Given the description of an element on the screen output the (x, y) to click on. 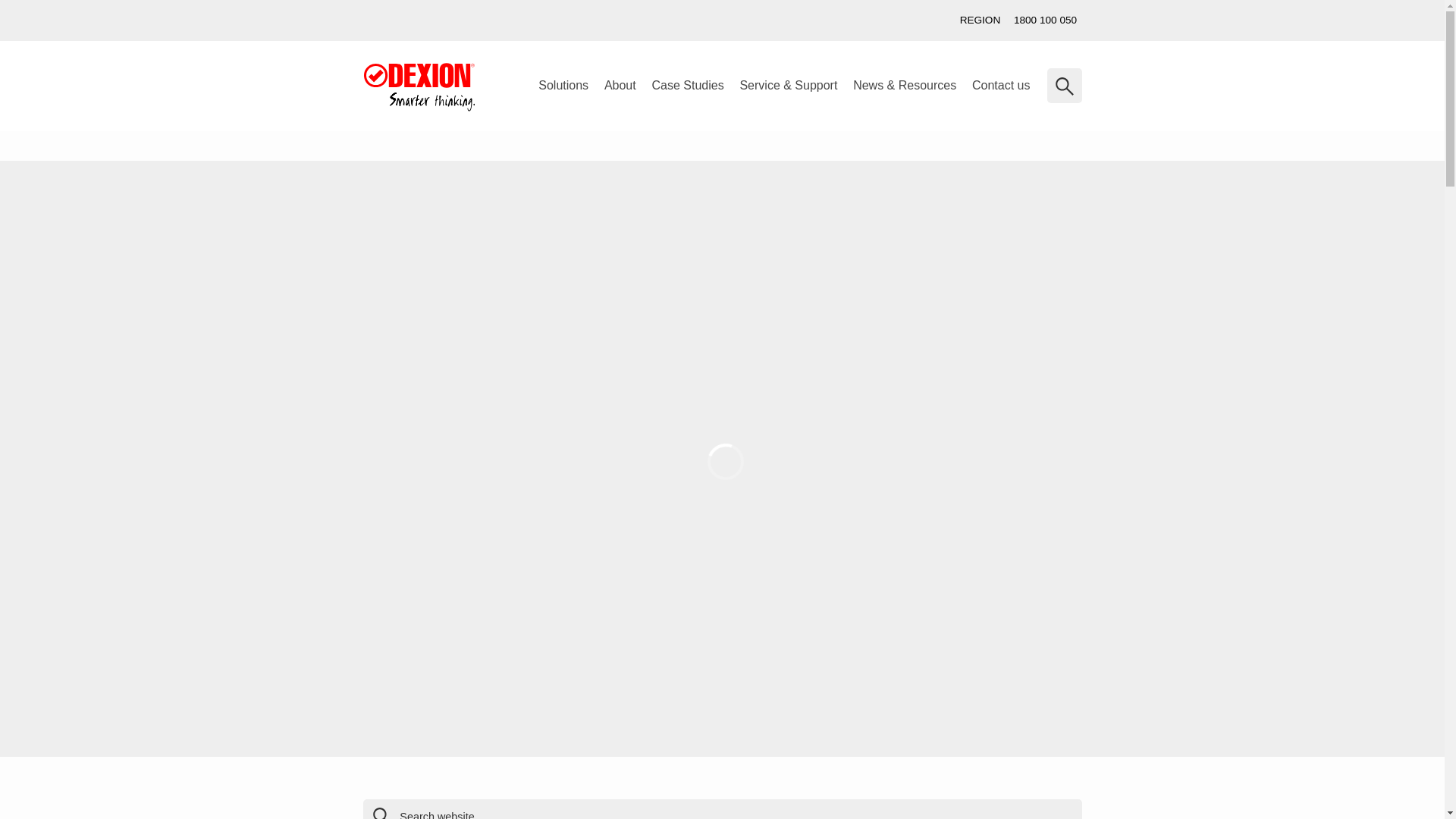
Service & Support Element type: text (788, 85)
Dexion - Global Storage solutions Element type: hover (418, 87)
Case Studies Element type: text (687, 85)
Contact us Element type: text (62, 288)
News & Resources Element type: text (904, 85)
REGION Element type: text (980, 20)
Solutions Element type: text (563, 85)
Contact us Element type: text (1001, 85)
About Element type: text (619, 85)
1800 100 050 Element type: text (1045, 20)
